Given the description of an element on the screen output the (x, y) to click on. 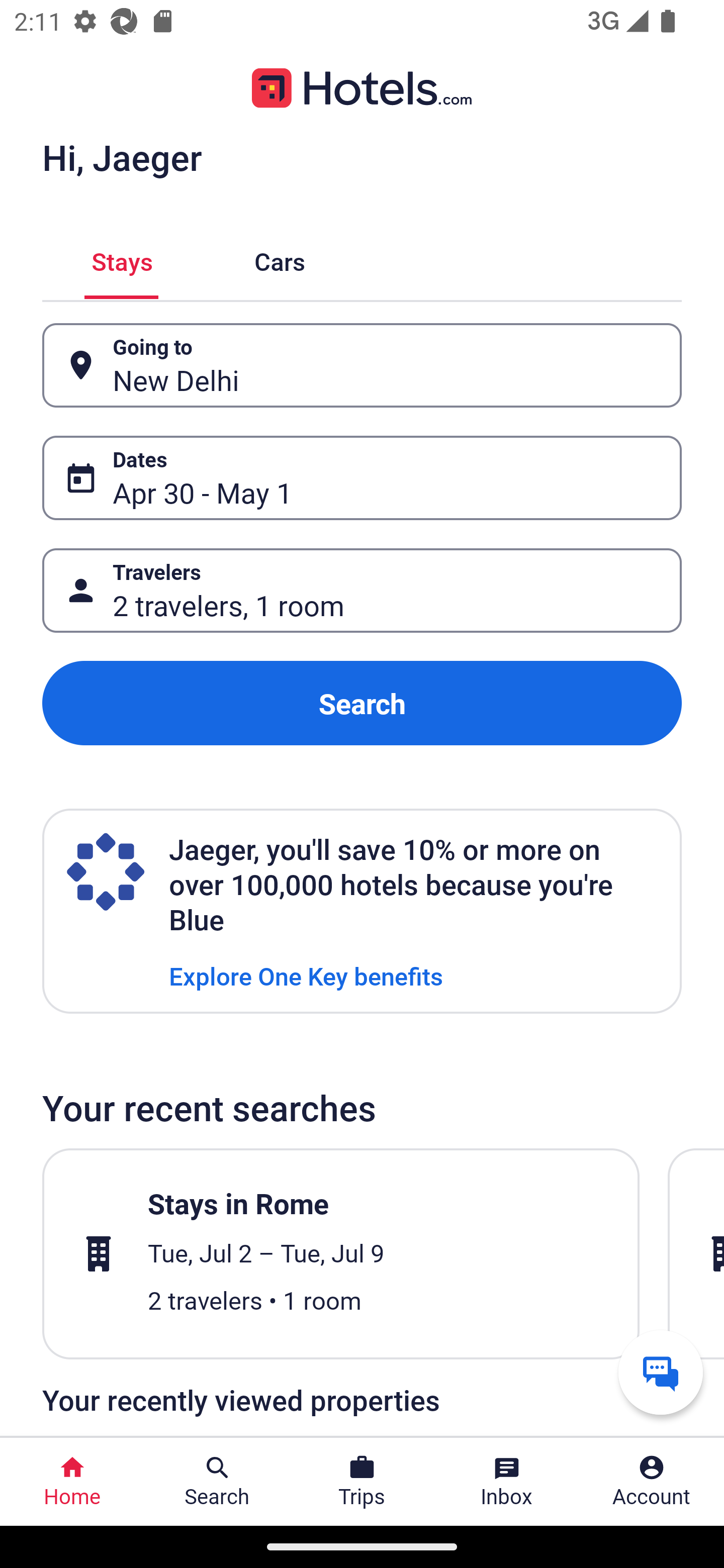
Hi, Jaeger (121, 156)
Cars (279, 259)
Going to Button New Delhi (361, 365)
Dates Button Apr 30 - May 1 (361, 477)
Travelers Button 2 travelers, 1 room (361, 590)
Search (361, 702)
Get help from a virtual agent (660, 1371)
Search Search Button (216, 1481)
Trips Trips Button (361, 1481)
Inbox Inbox Button (506, 1481)
Account Profile. Button (651, 1481)
